Given the description of an element on the screen output the (x, y) to click on. 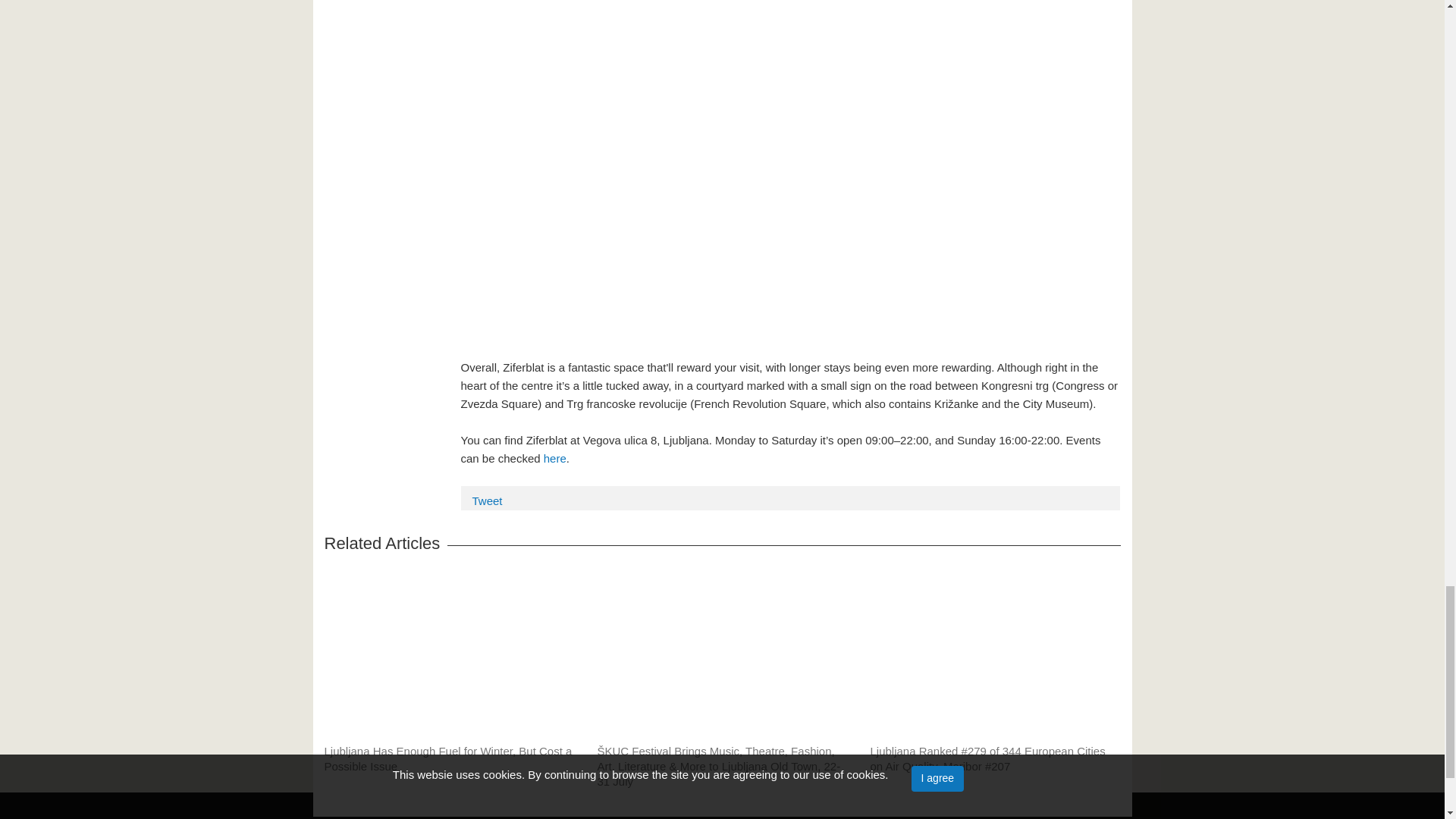
here (554, 458)
Tweet (486, 500)
